Given the description of an element on the screen output the (x, y) to click on. 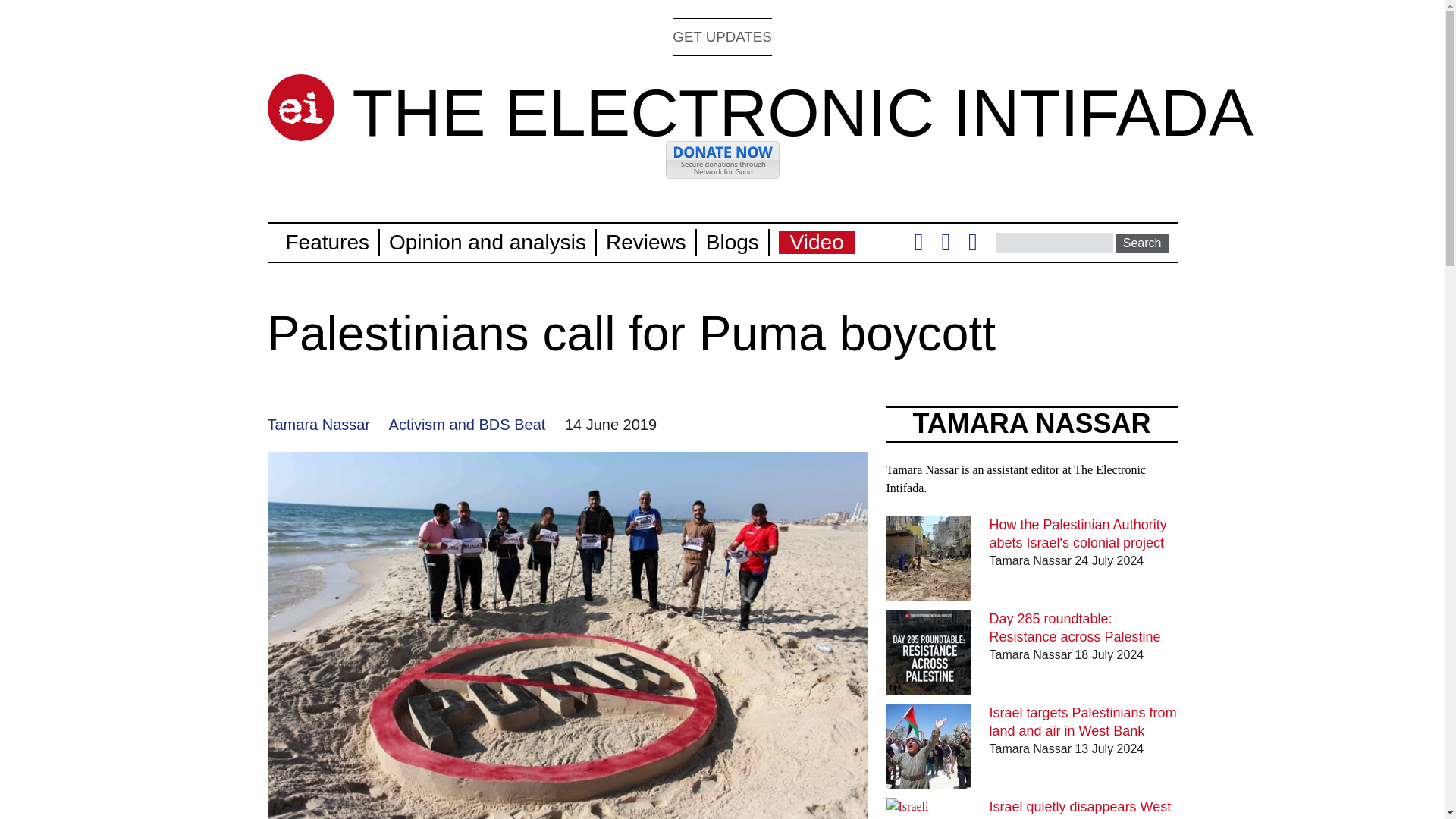
Search (1142, 243)
Activism and BDS Beat (467, 424)
GET UPDATES (721, 37)
Home (299, 107)
Home (802, 112)
Enter the terms you wish to search for. (1054, 242)
Tamara Nassar (317, 424)
THE ELECTRONIC INTIFADA (802, 112)
